Given the description of an element on the screen output the (x, y) to click on. 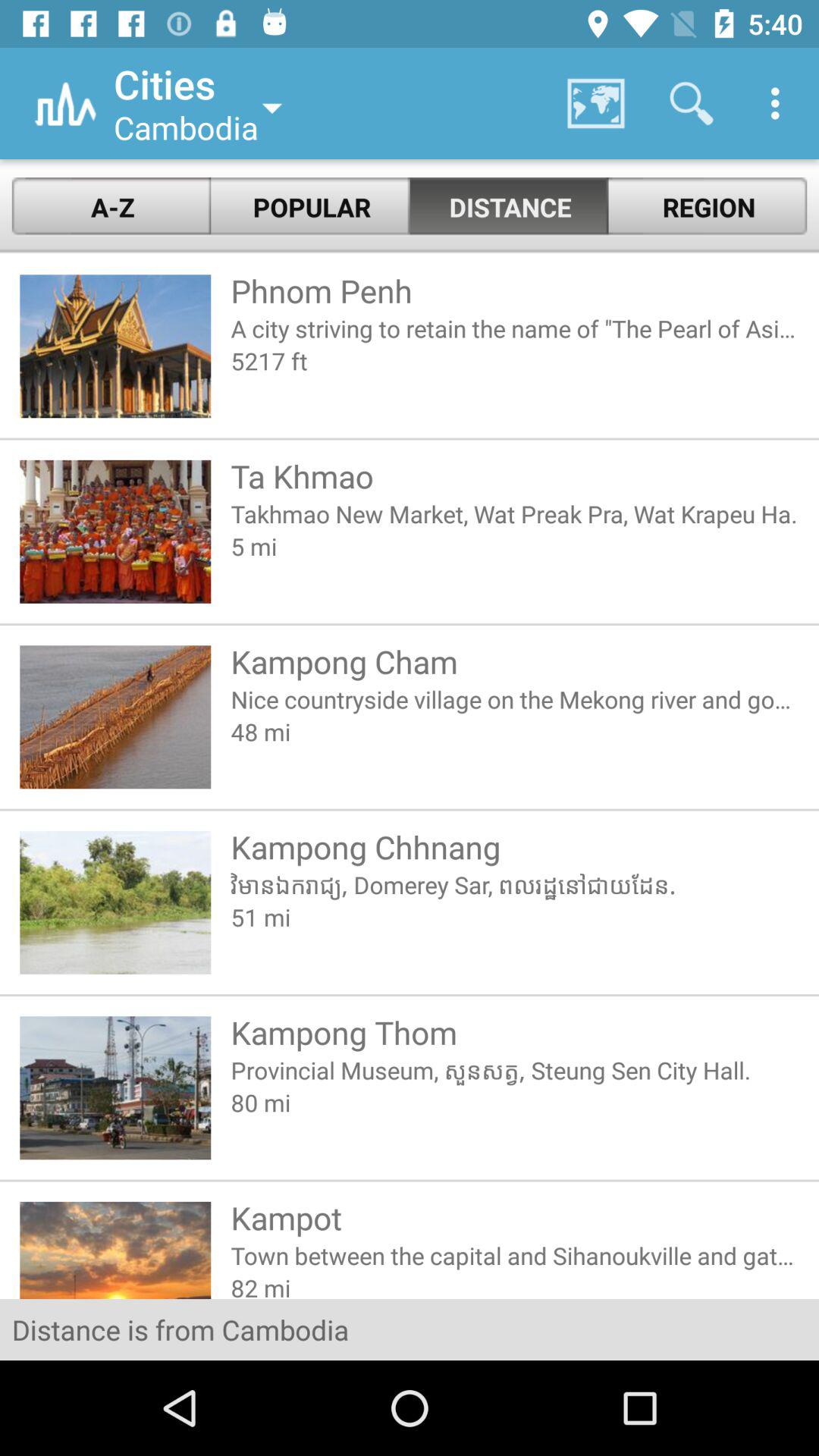
choose the takhmao new market item (514, 513)
